Given the description of an element on the screen output the (x, y) to click on. 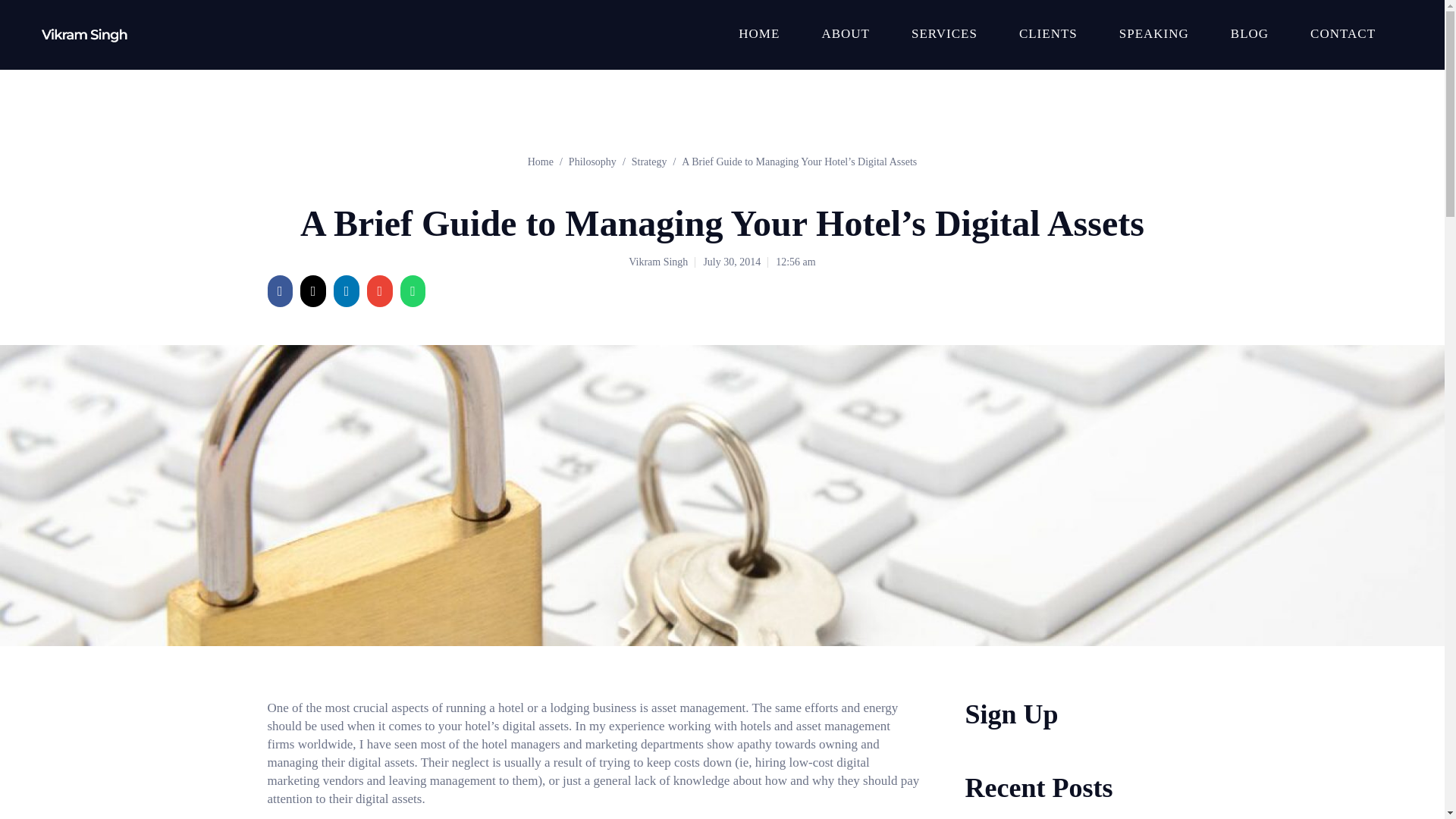
SPEAKING (1154, 34)
SERVICES (943, 34)
CONTACT (1342, 34)
CLIENTS (1048, 34)
ABOUT (845, 34)
BLOG (1249, 34)
HOME (758, 34)
